Given the description of an element on the screen output the (x, y) to click on. 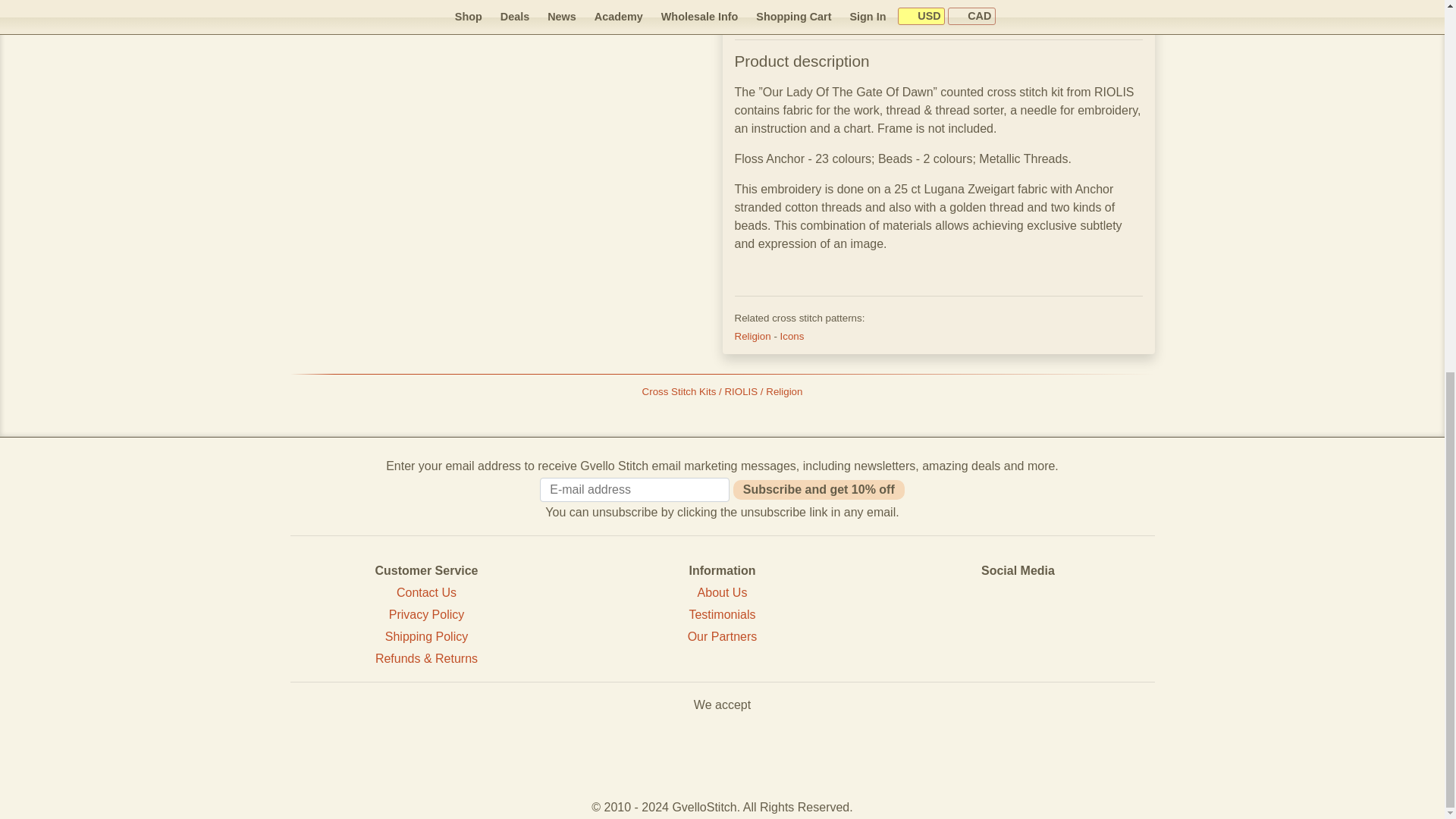
Religion (753, 336)
Icons (792, 336)
About Us (722, 592)
Privacy Policy (426, 614)
Gvellostitch on Instagram (1069, 626)
Shipping Policy (426, 635)
Gvellostitch on Facebook (966, 626)
Testimonials (721, 614)
Gvellostitch on Pinterest (1017, 626)
Our Partners (722, 635)
Contact Us (426, 592)
